Given the description of an element on the screen output the (x, y) to click on. 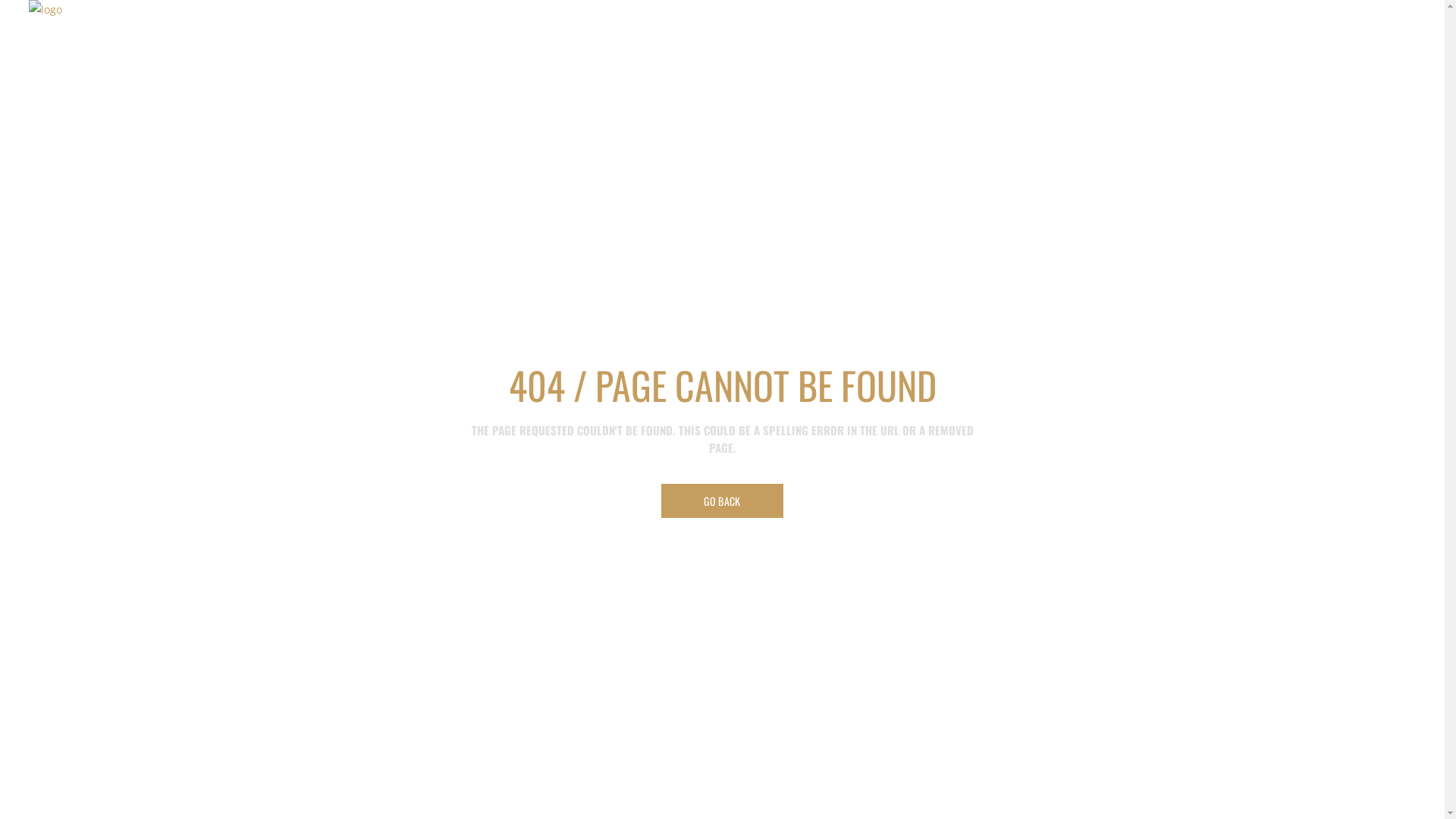
GO BACK Element type: text (721, 500)
